Given the description of an element on the screen output the (x, y) to click on. 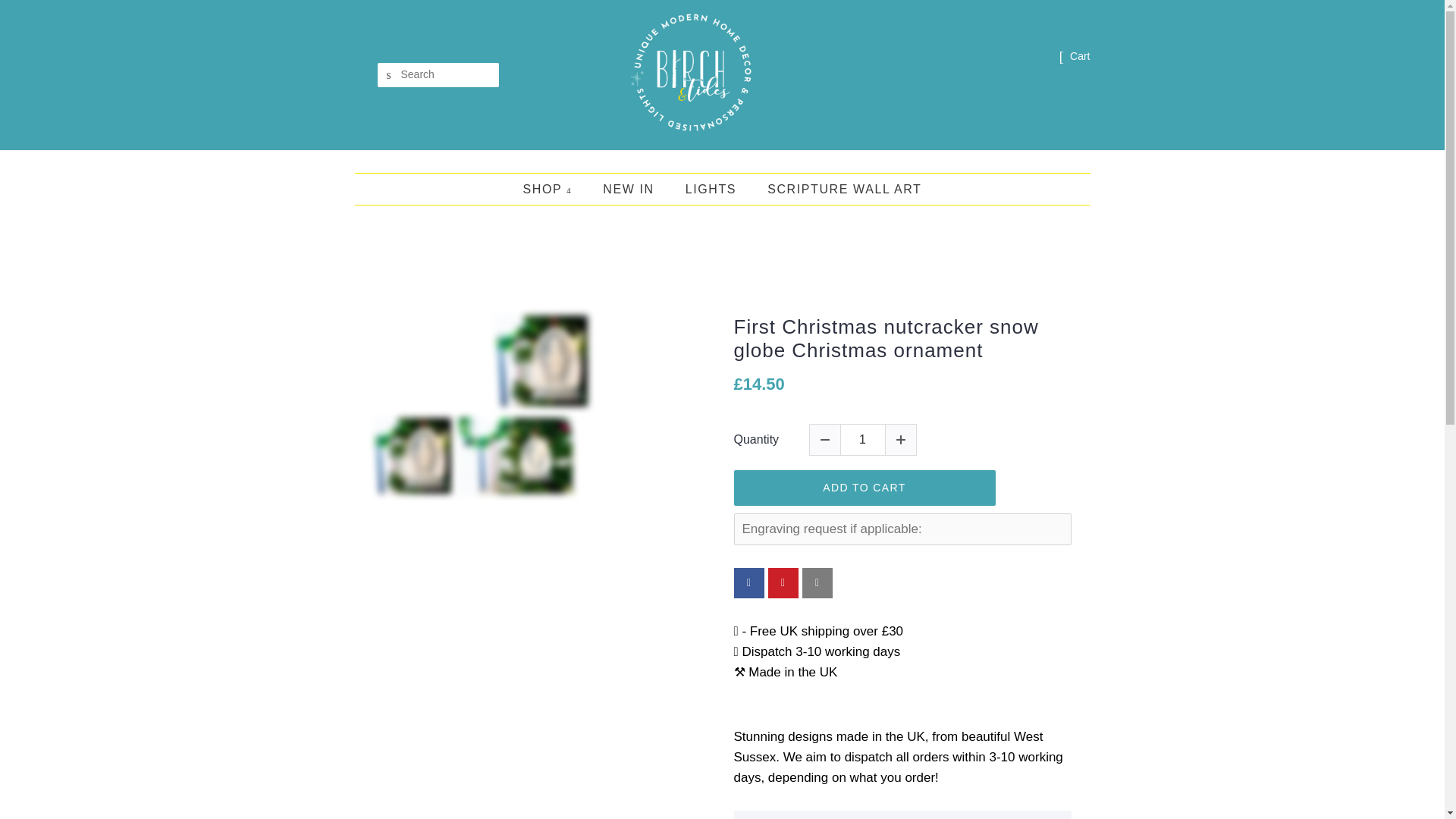
pinterest (782, 583)
SEARCH (389, 75)
Cart (1079, 56)
facebook (748, 583)
email (817, 583)
SHOP (555, 188)
1 (862, 440)
